Given the description of an element on the screen output the (x, y) to click on. 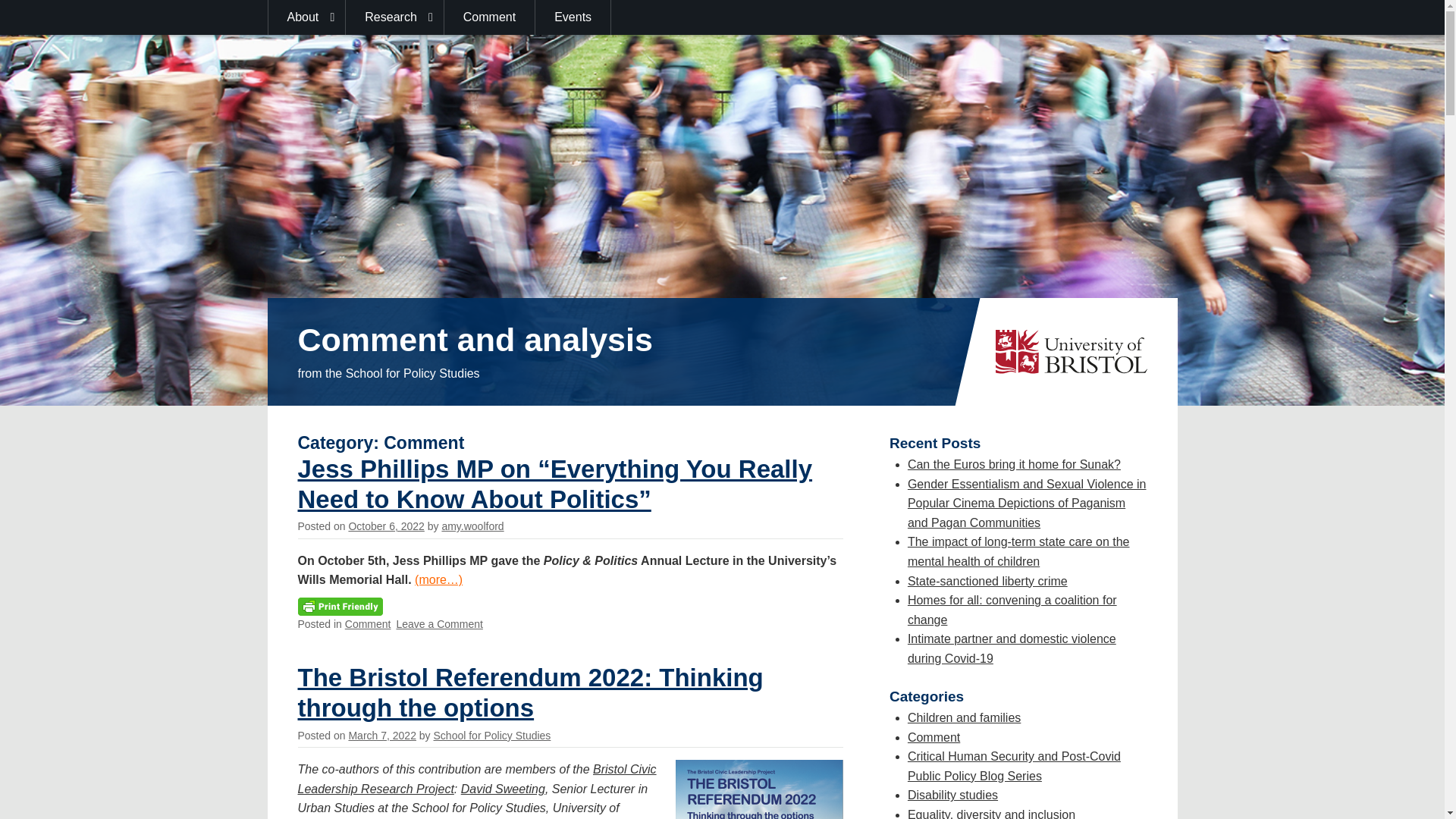
About (306, 17)
March 7, 2022 (381, 735)
Comment (489, 17)
Research (395, 17)
The Bristol Referendum 2022: Thinking through the options (529, 692)
Comment and analysis (474, 339)
October 6, 2022 (385, 526)
Comment (368, 623)
Events (573, 17)
School for Policy Studies (492, 735)
David Sweeting (502, 788)
amy.woolford (472, 526)
Bristol Civic Leadership Research Project (476, 778)
